Given the description of an element on the screen output the (x, y) to click on. 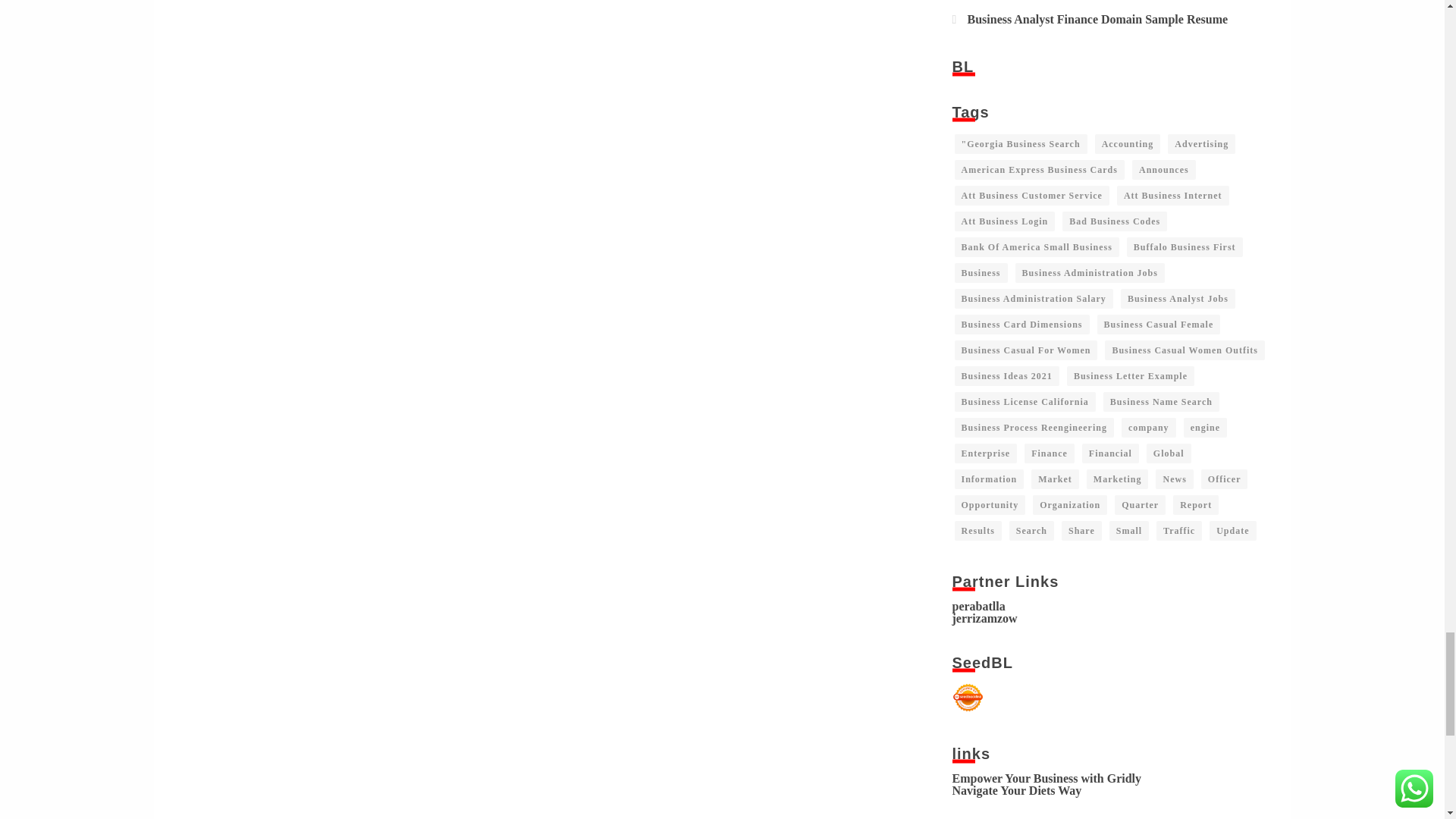
Seedbacklink (968, 697)
